Given the description of an element on the screen output the (x, y) to click on. 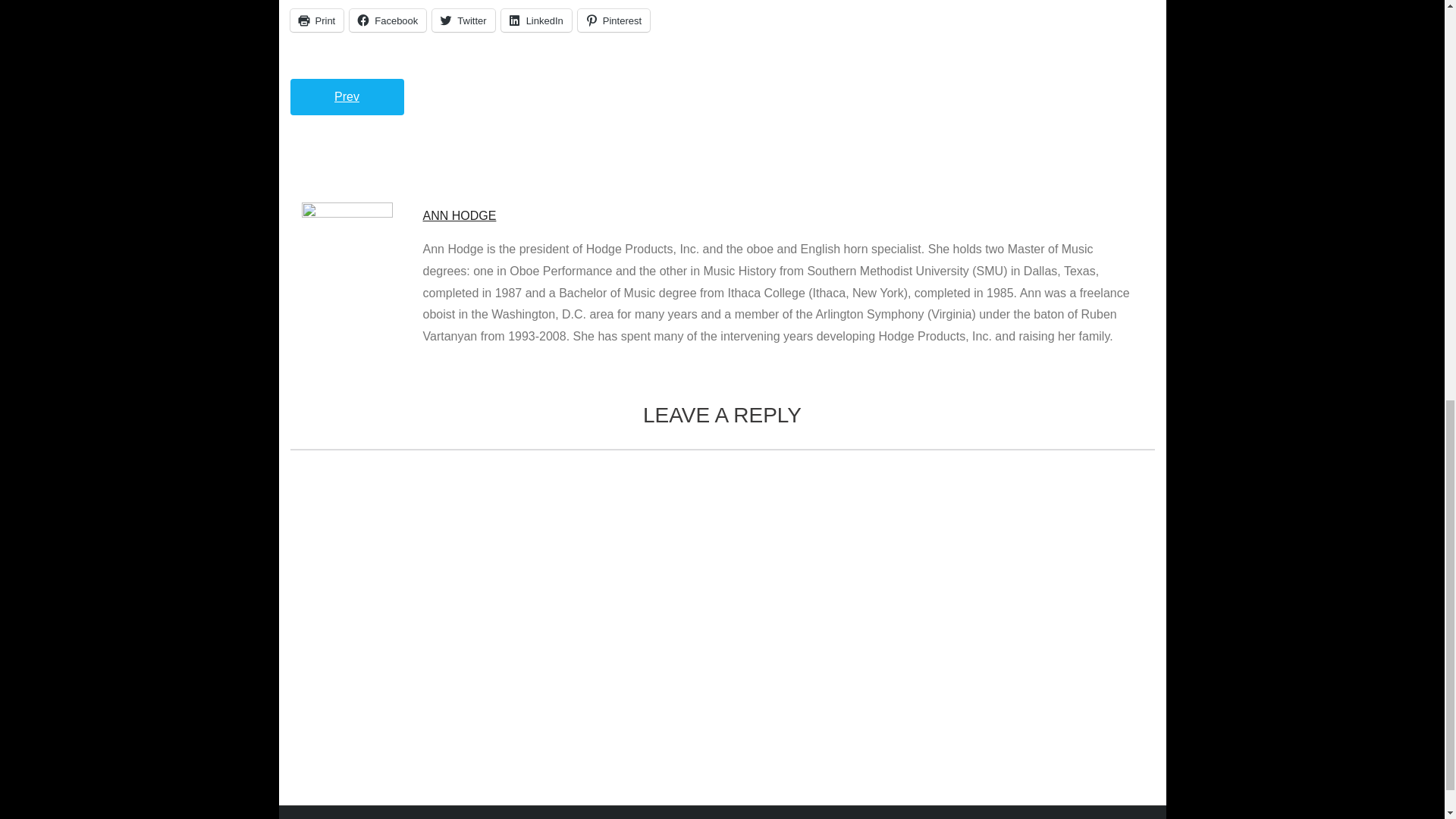
Click to print (316, 20)
Click to share on LinkedIn (536, 20)
Click to share on Facebook (387, 20)
Click to share on Twitter (463, 20)
Click to share on Pinterest (613, 20)
